Given the description of an element on the screen output the (x, y) to click on. 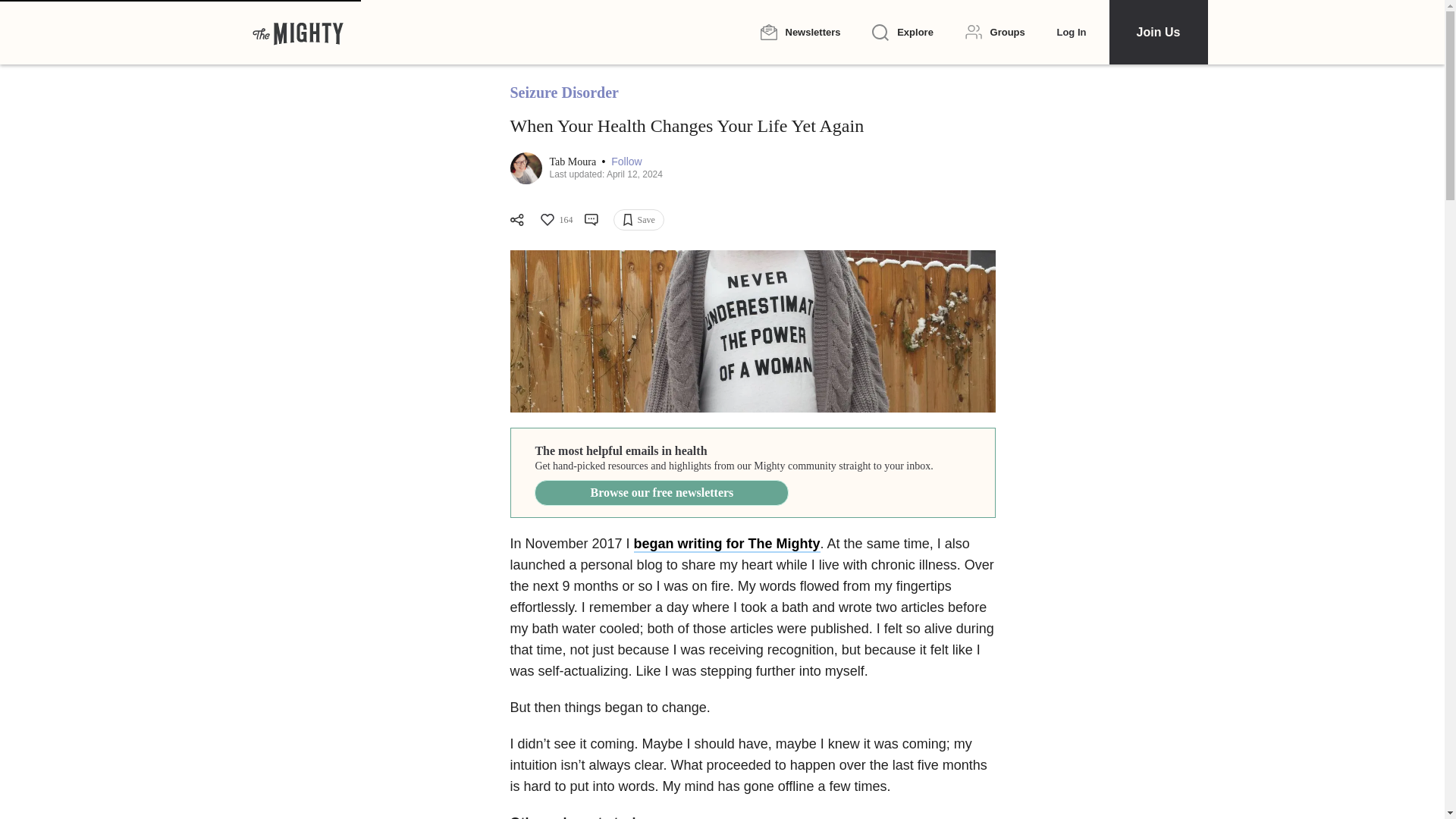
164 (555, 219)
began writing for The Mighty (727, 544)
The Mighty (296, 32)
Newsletters (800, 31)
Tab Moura (573, 161)
Developing Multiple Chronic Illnesses (751, 331)
Save (637, 219)
Groups (995, 32)
Follow (626, 161)
Browse our free newsletters (661, 492)
